Given the description of an element on the screen output the (x, y) to click on. 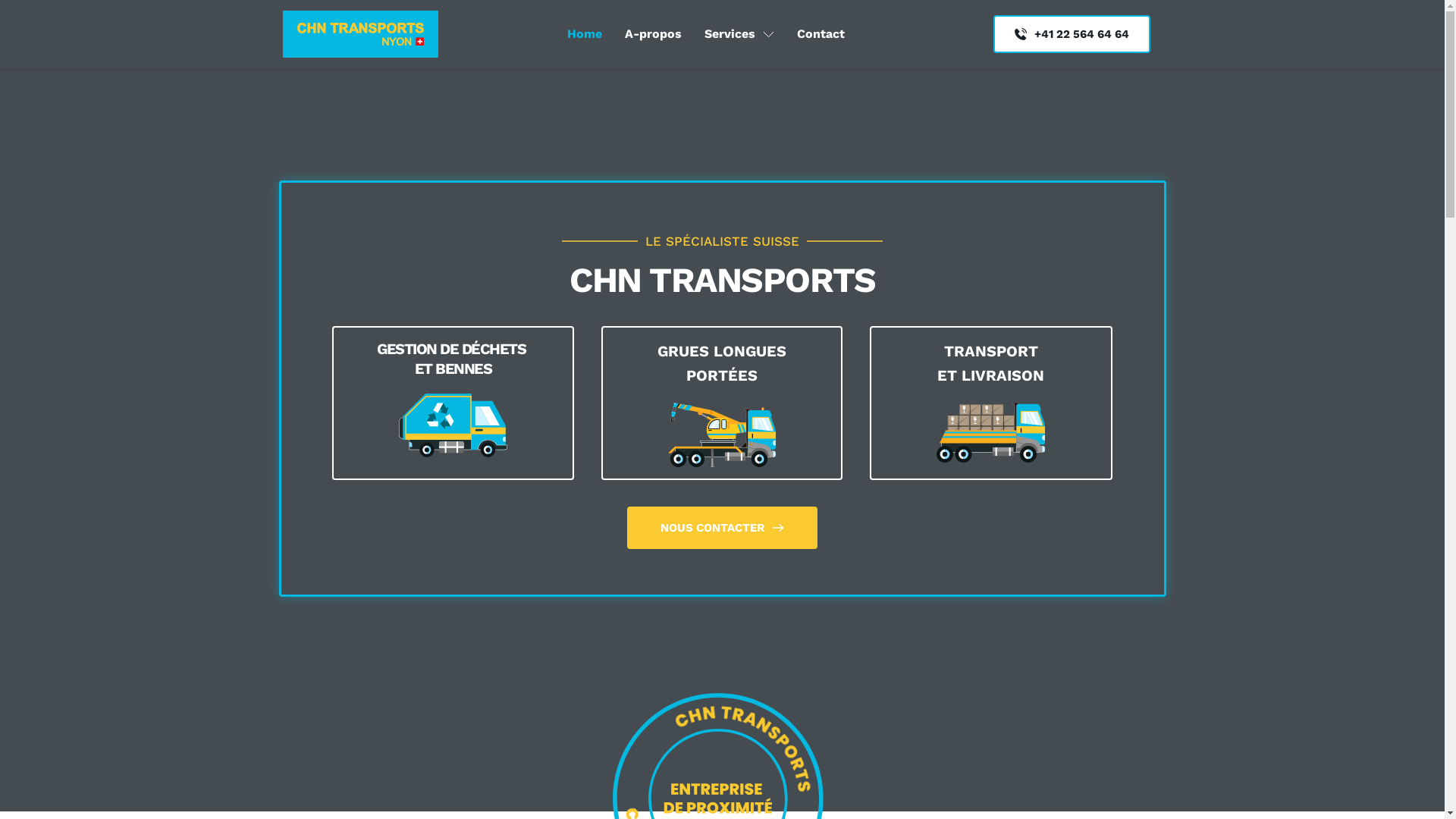
Services Element type: text (739, 34)
A-propos Element type: text (653, 34)
Contact Element type: text (820, 34)
Home Element type: text (584, 34)
NOUS CONTACTER Element type: text (722, 527)
+41 22 564 64 64 Element type: text (1071, 34)
